Given the description of an element on the screen output the (x, y) to click on. 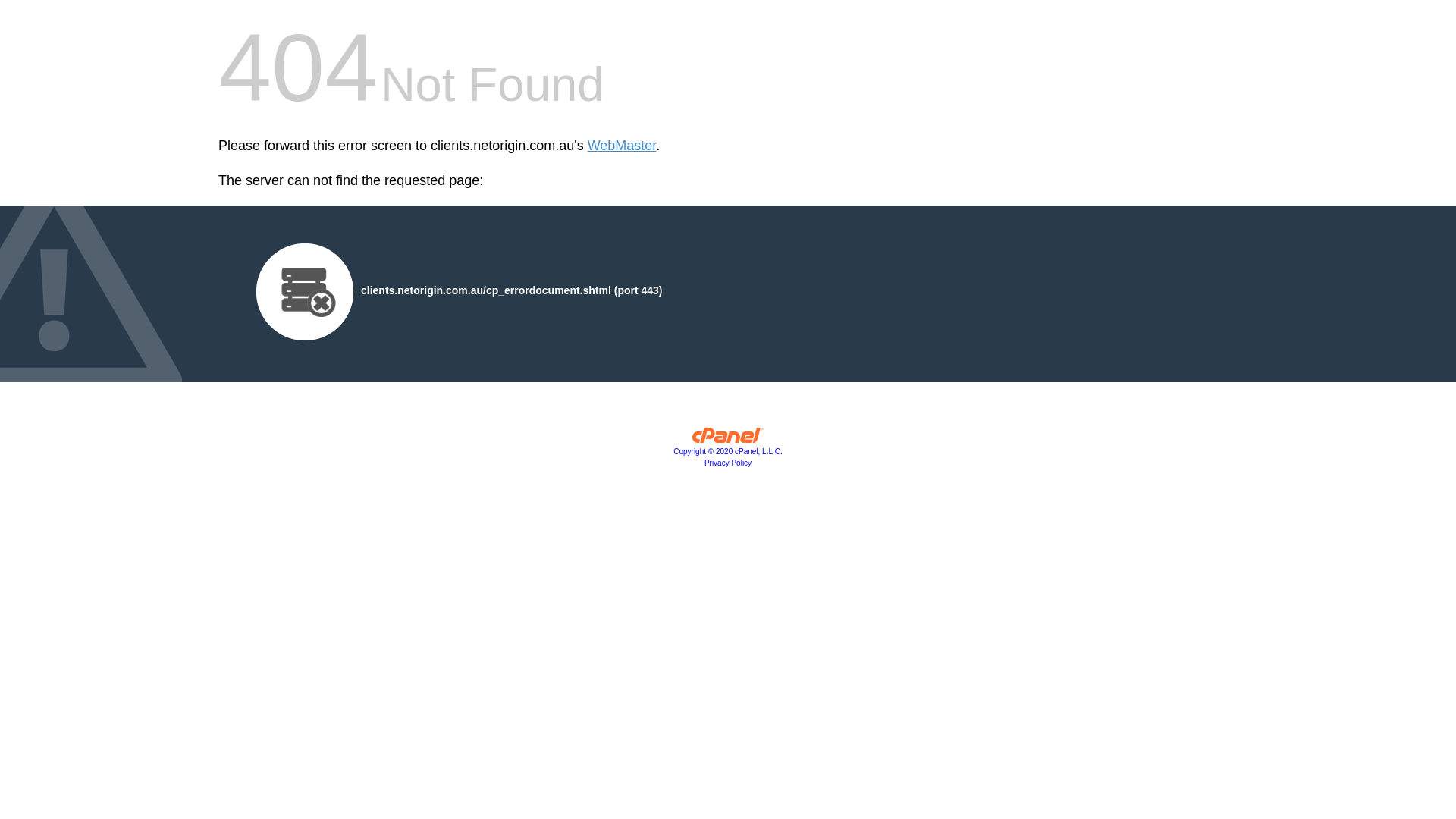
cPanel, Inc. Element type: hover (728, 439)
WebMaster Element type: text (621, 145)
Privacy Policy Element type: text (727, 462)
